Given the description of an element on the screen output the (x, y) to click on. 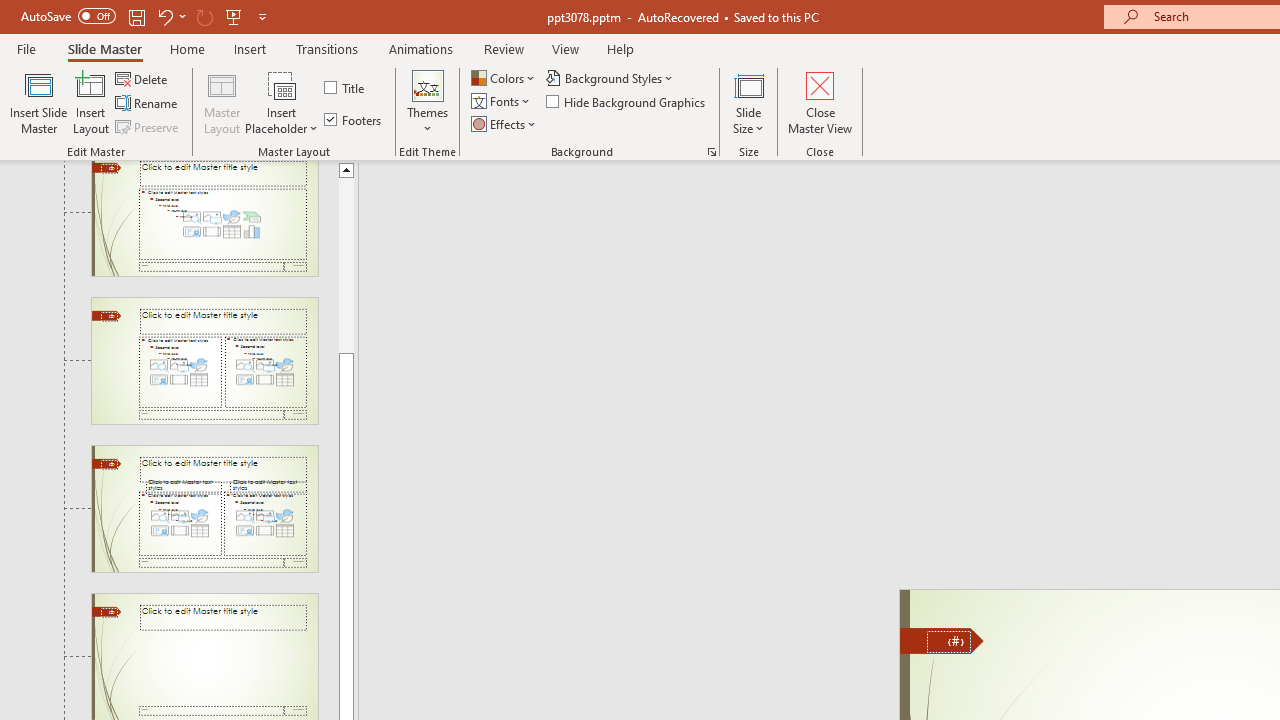
Freeform 11 (941, 640)
Slide Title and Content Layout: used by no slides (204, 218)
Slide Two Content Layout: used by no slides (204, 361)
Slide Title Only Layout: used by no slides (204, 657)
Title (346, 87)
Effects (505, 124)
Fonts (502, 101)
Insert Placeholder (282, 102)
Slide Comparison Layout: used by no slides (204, 508)
